Given the description of an element on the screen output the (x, y) to click on. 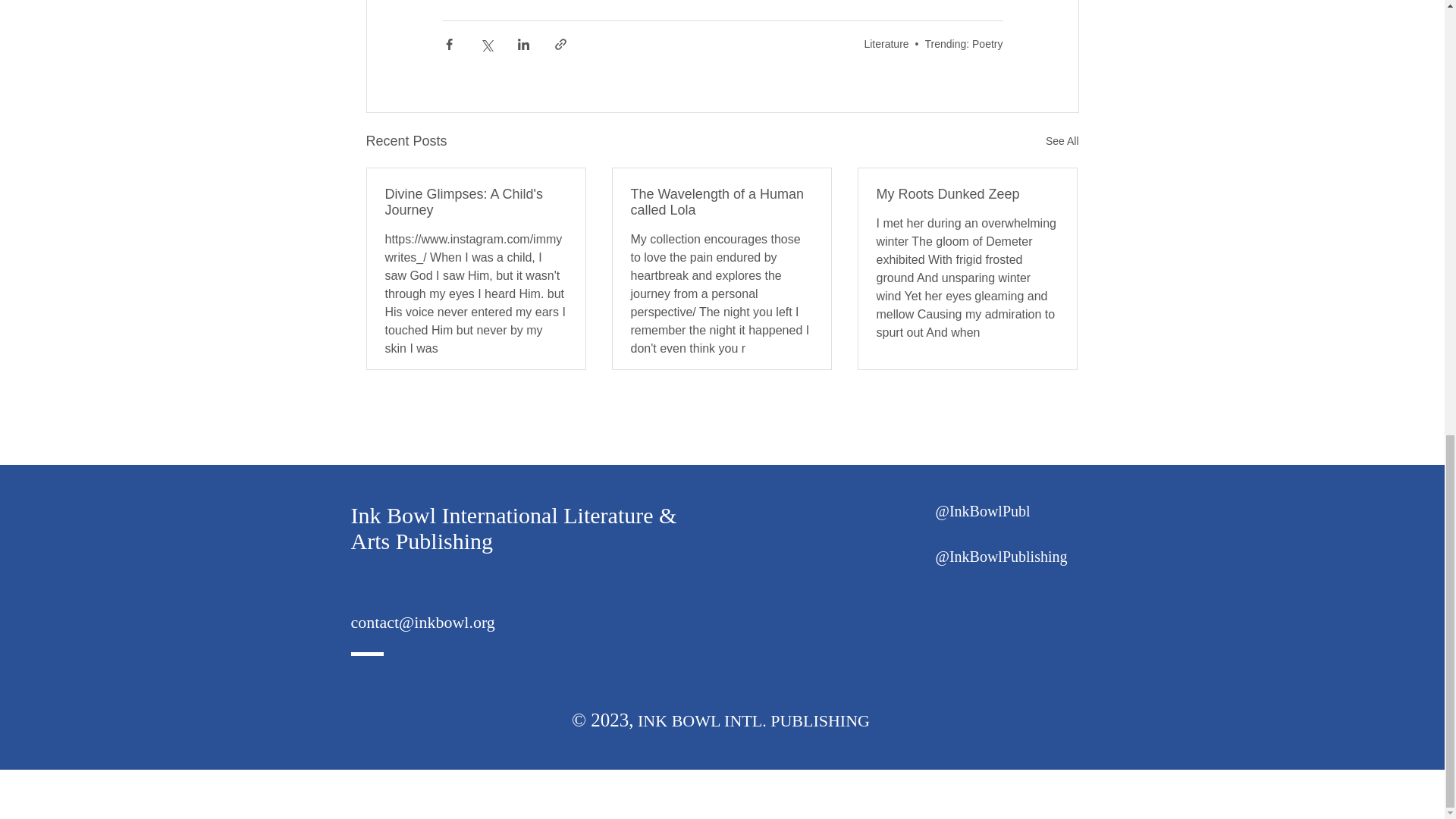
My Roots Dunked Zeep (967, 194)
Trending: Poetry (963, 42)
See All (1061, 141)
Divine Glimpses: A Child's Journey (476, 202)
Literature (885, 42)
The Wavelength of a Human called Lola (721, 202)
